Given the description of an element on the screen output the (x, y) to click on. 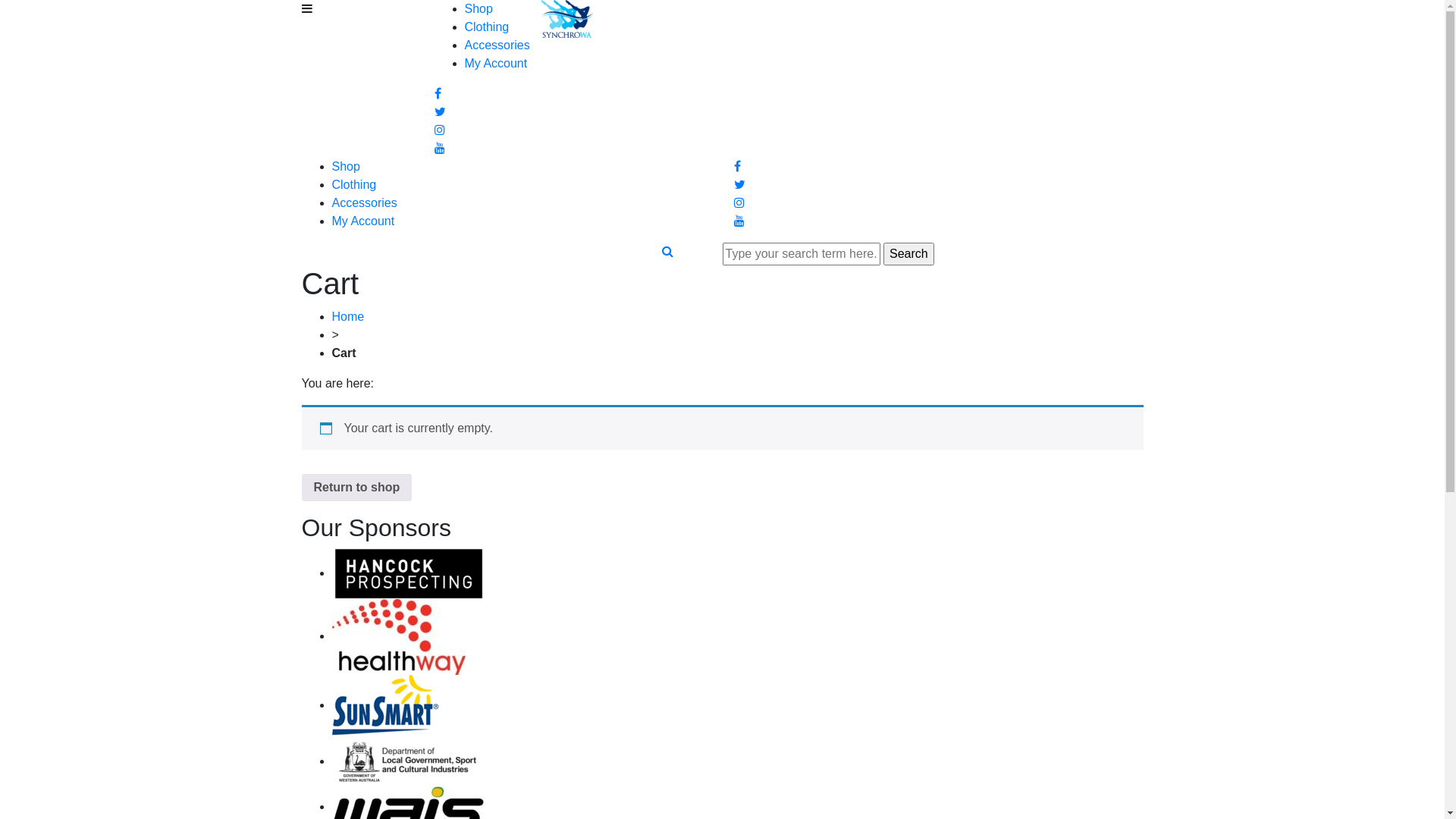
Shop Element type: text (346, 166)
Search Element type: text (908, 253)
Accessories Element type: text (496, 44)
Shop Element type: text (478, 8)
Clothing Element type: text (354, 184)
Search Element type: hover (666, 250)
My Account Element type: text (363, 220)
Home Element type: text (348, 316)
Clothing Element type: text (486, 26)
Accessories Element type: text (364, 202)
Return to shop Element type: text (356, 487)
My Account Element type: text (495, 62)
